Given the description of an element on the screen output the (x, y) to click on. 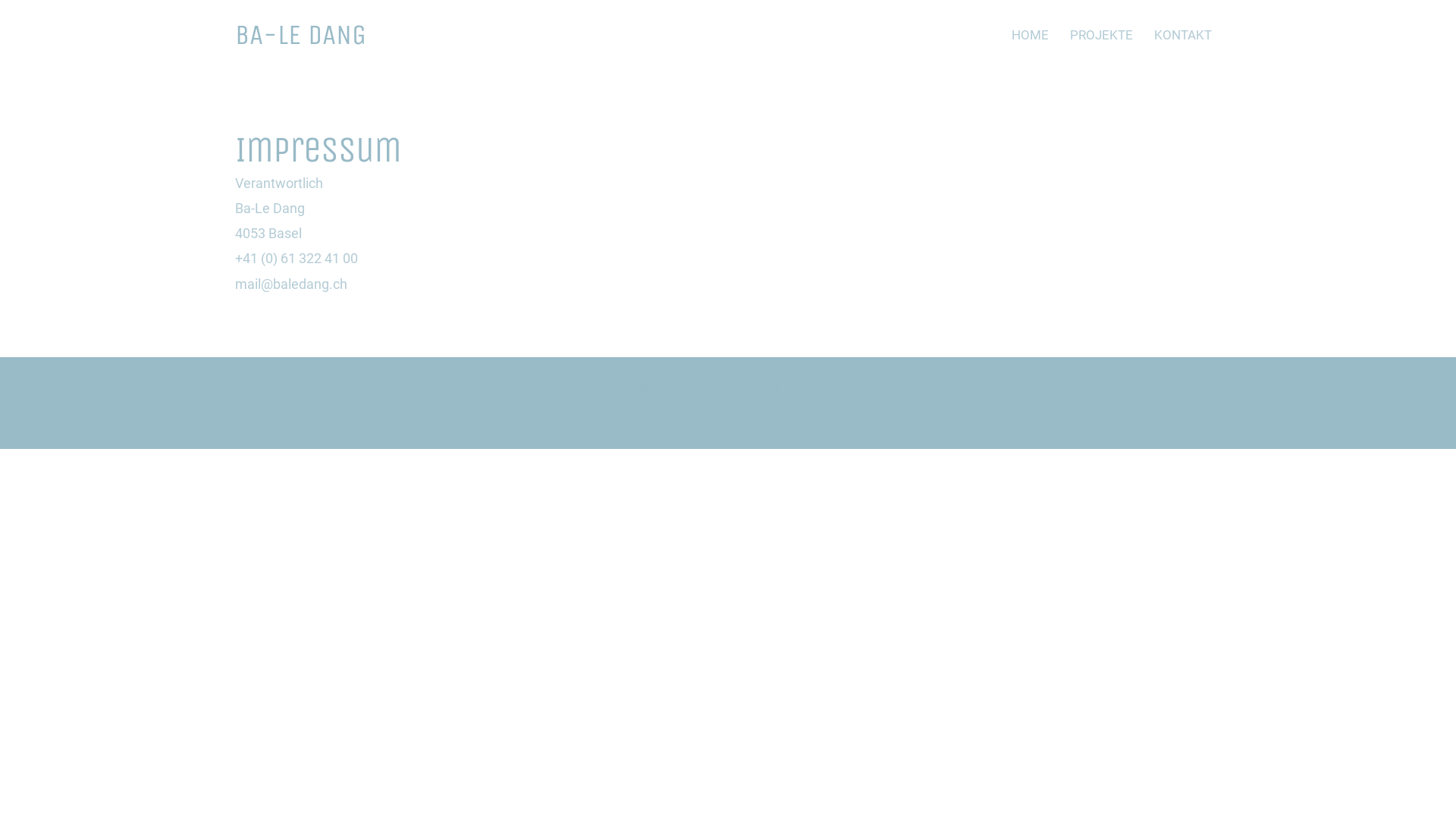
HOME Element type: text (1029, 34)
BA-LE DANG Element type: text (300, 34)
KONTAKT Element type: text (1182, 34)
Impressum Element type: text (721, 420)
PROJEKTE Element type: text (1101, 34)
